Given the description of an element on the screen output the (x, y) to click on. 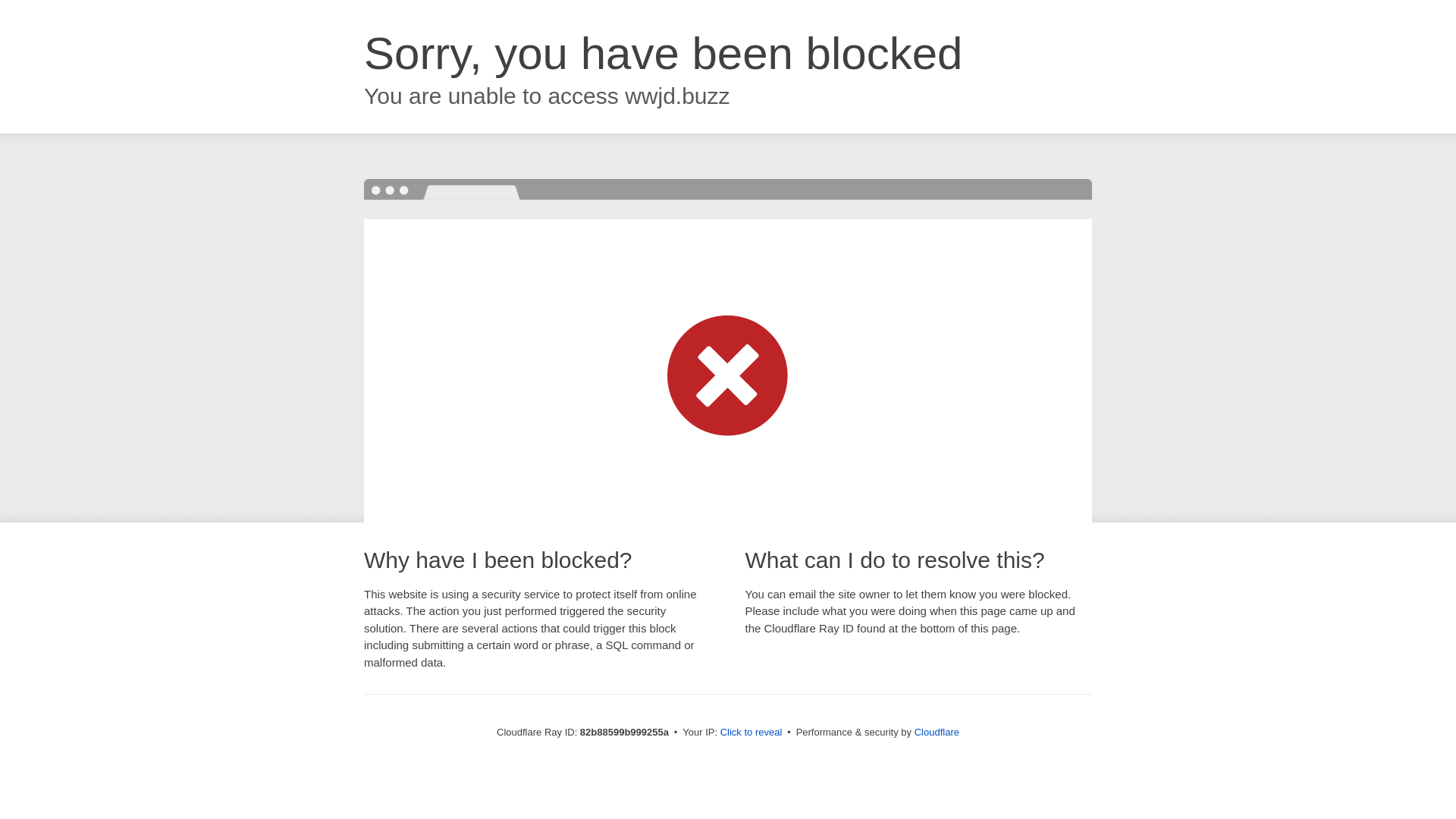
Cloudflare Element type: text (936, 731)
Click to reveal Element type: text (751, 732)
